Given the description of an element on the screen output the (x, y) to click on. 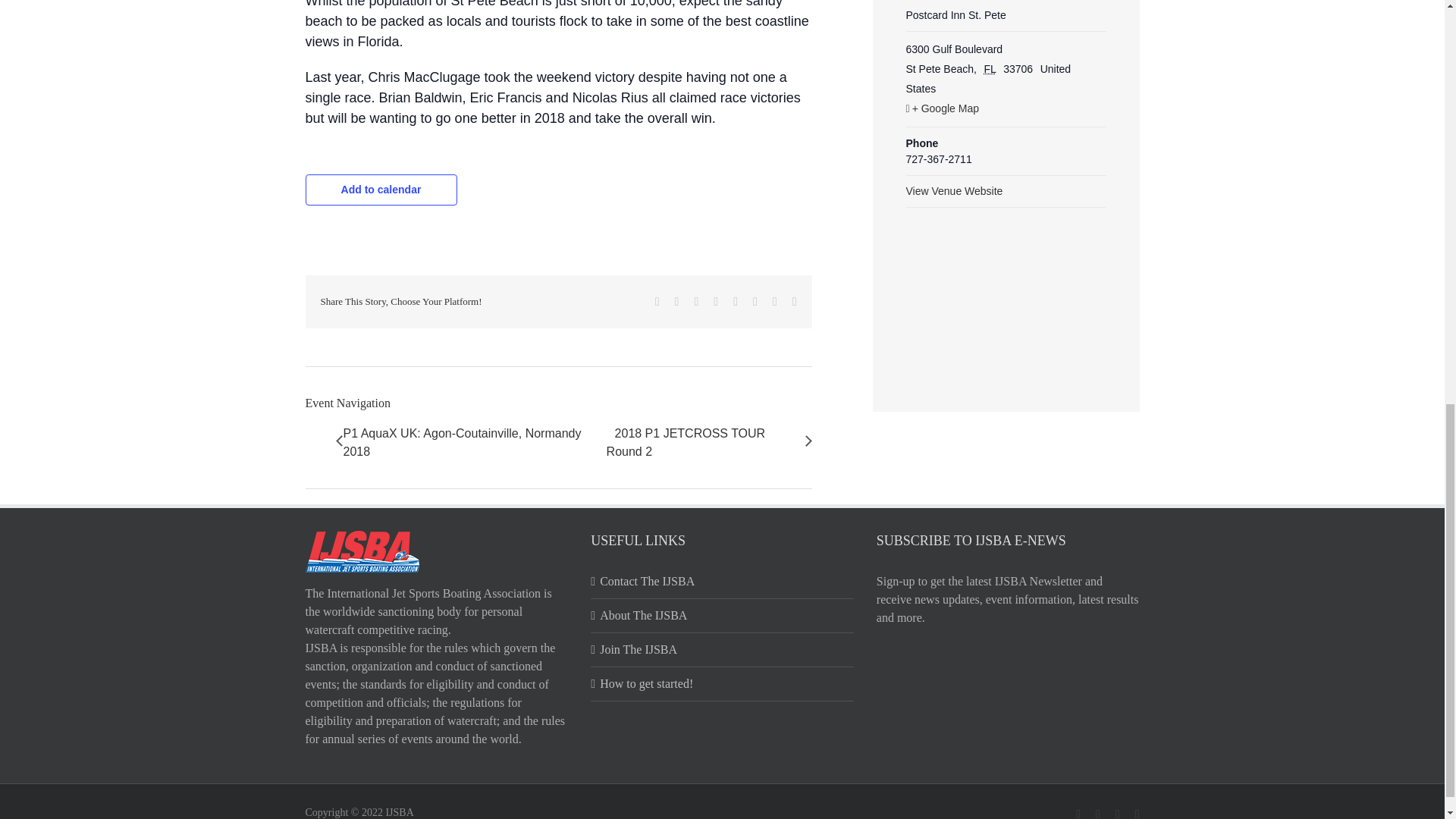
Email (794, 301)
Add to calendar (381, 189)
LinkedIn (715, 301)
Facebook (657, 301)
Reddit (696, 301)
Twitter (677, 301)
P1 AquaX UK: Agon-Coutainville, Normandy 2018 (473, 443)
Tumblr (735, 301)
Twitter (677, 301)
Tumblr (735, 301)
Reddit (696, 301)
Pinterest (754, 301)
Facebook (657, 301)
Email (794, 301)
Vk (775, 301)
